Given the description of an element on the screen output the (x, y) to click on. 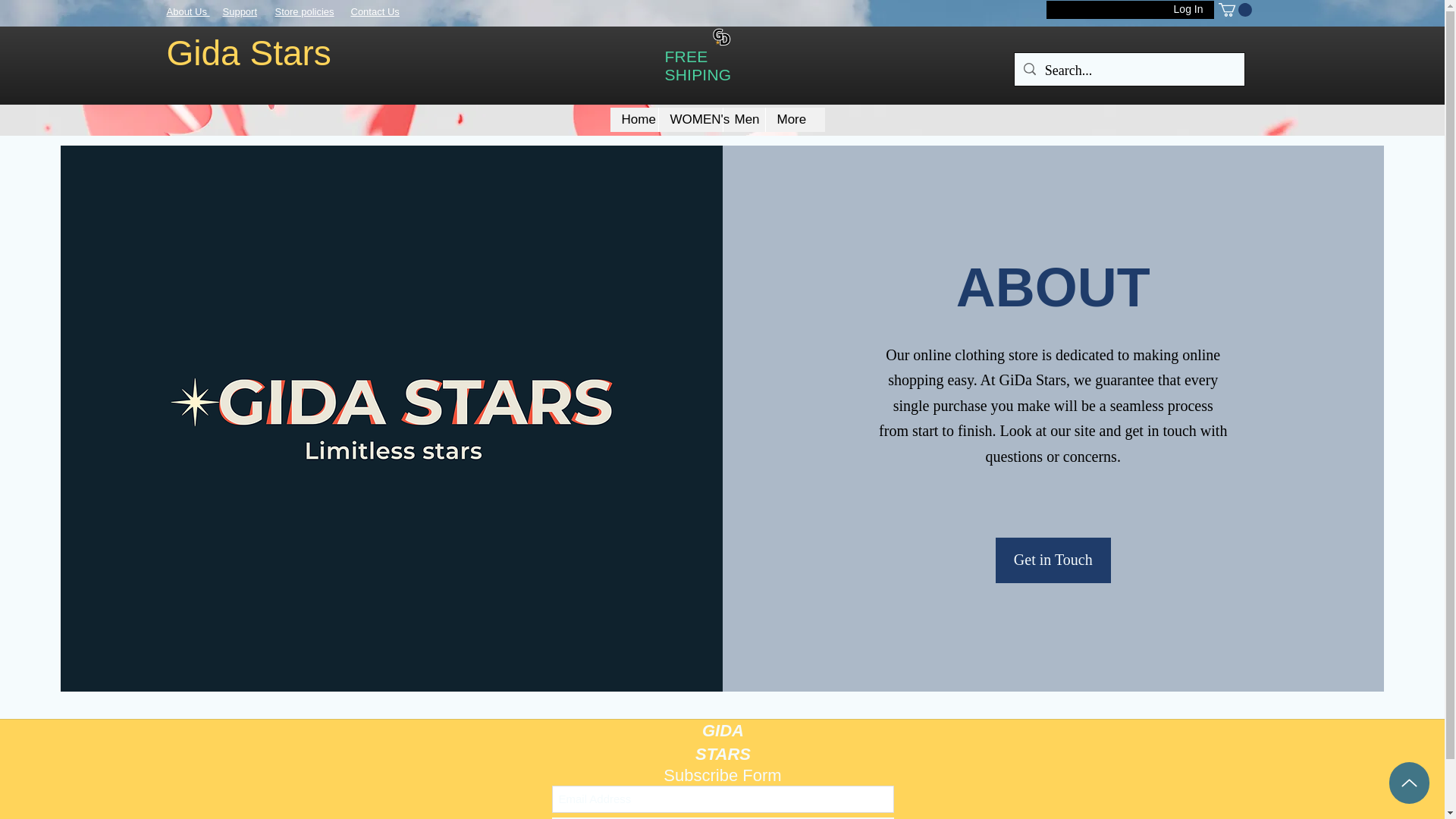
Men (743, 119)
Contact Us (374, 11)
Log In (1188, 11)
Get in Touch (1052, 560)
About Us  (188, 11)
Store policies (304, 11)
Support (239, 11)
Home (634, 119)
WOMEN's (690, 119)
